Given the description of an element on the screen output the (x, y) to click on. 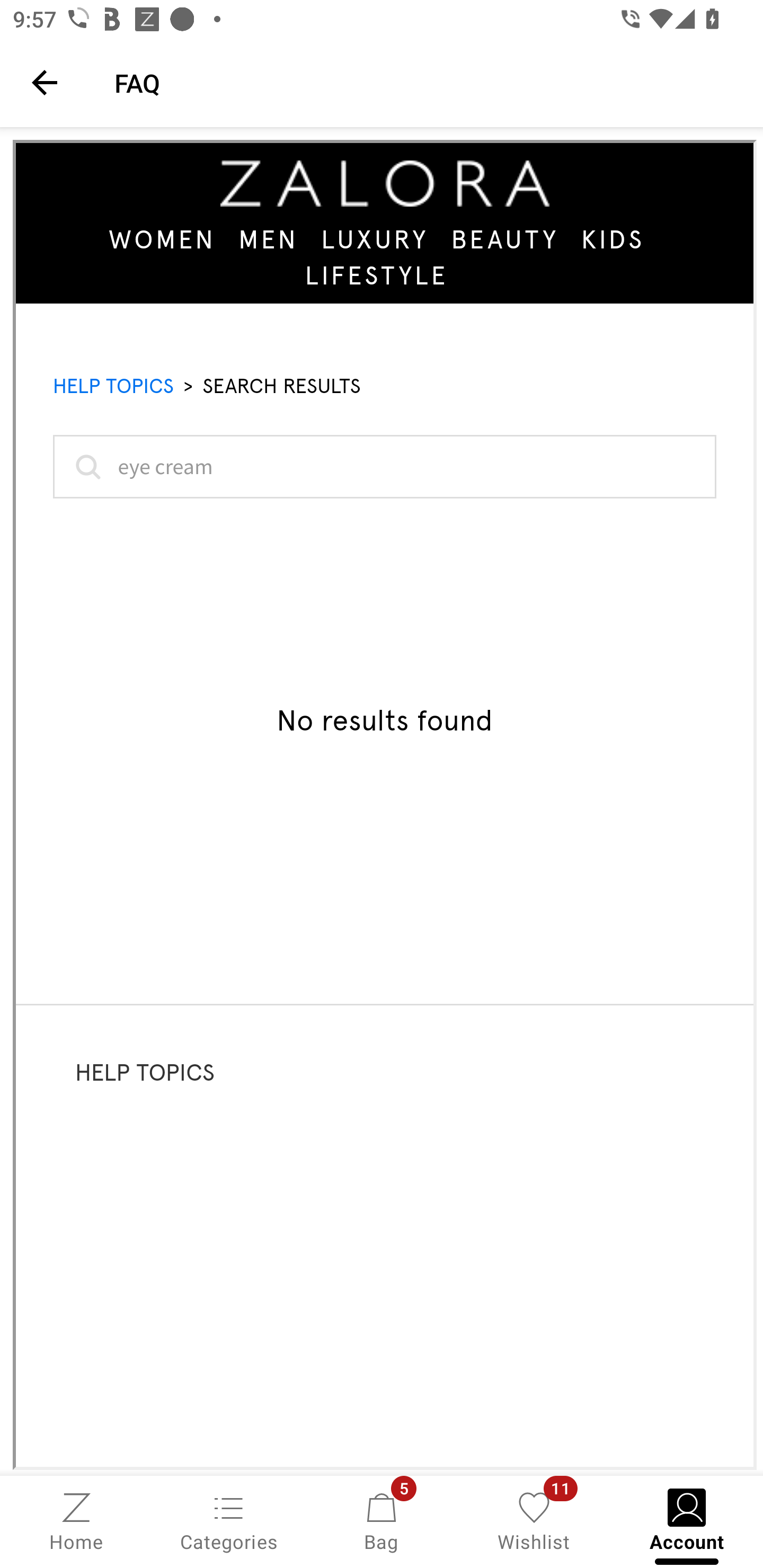
Navigate up (44, 82)
FAQ (426, 82)
logo (384, 182)
WOMEN (162, 239)
MEN (268, 239)
LUXURY (374, 239)
BEAUTY (504, 239)
KIDS (612, 239)
LIFESTYLE (376, 274)
HELP TOPICS (113, 385)
eye cream (384, 466)
Search (84, 466)
HELP TOPICS (144, 1071)
Home (76, 1519)
Categories (228, 1519)
Bag, 5 new notifications Bag (381, 1519)
Wishlist, 11 new notifications Wishlist (533, 1519)
